Given the description of an element on the screen output the (x, y) to click on. 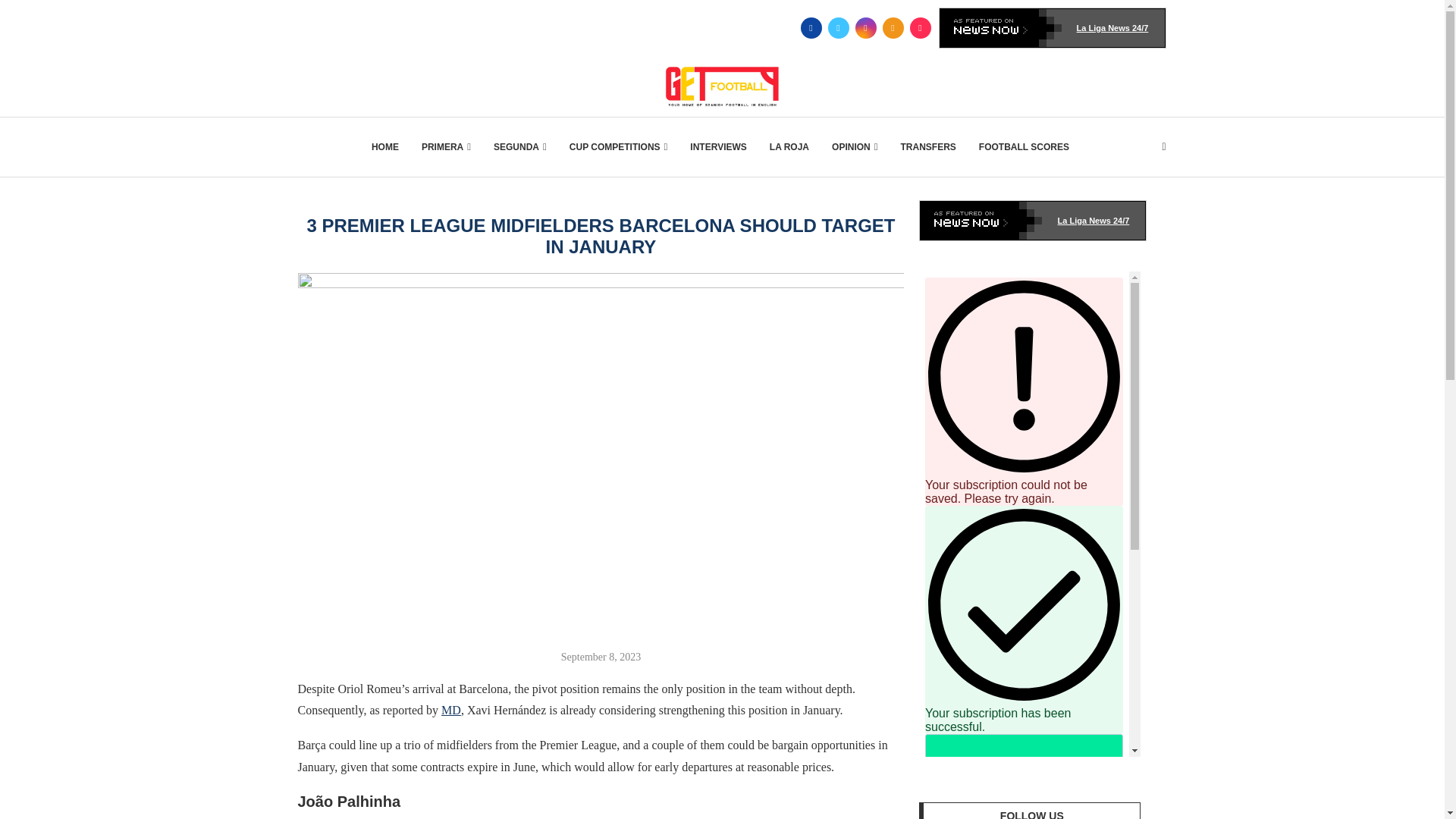
Click here for more La Liga news from NewsNow (1032, 219)
Click here for more La Liga news from NewsNow (1052, 27)
PRIMERA (446, 146)
SEGUNDA (520, 146)
